Given the description of an element on the screen output the (x, y) to click on. 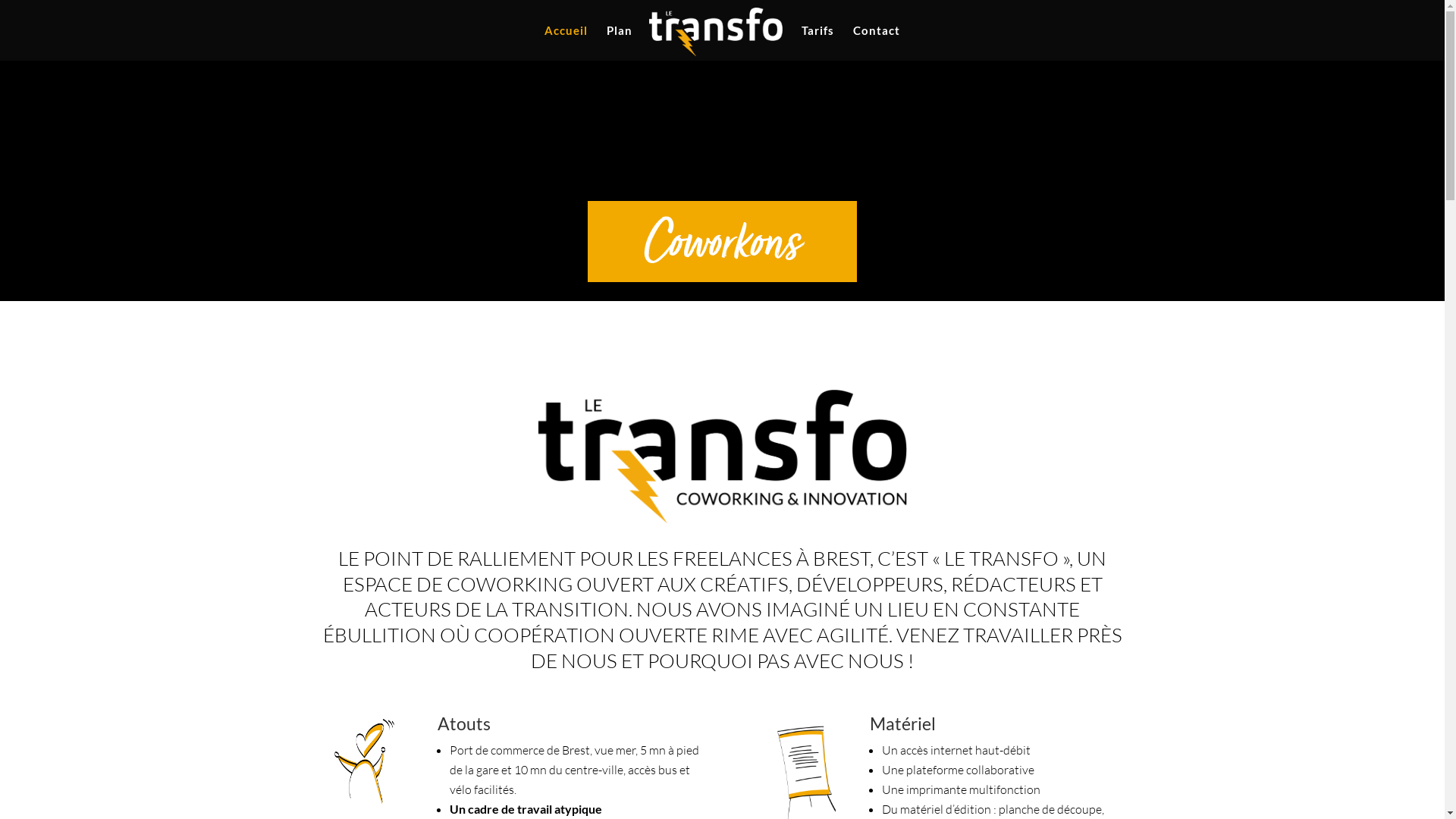
Tarifs Element type: text (817, 42)
Accueil Element type: text (565, 42)
Plan Element type: text (619, 42)
Contact Element type: text (876, 42)
